Given the description of an element on the screen output the (x, y) to click on. 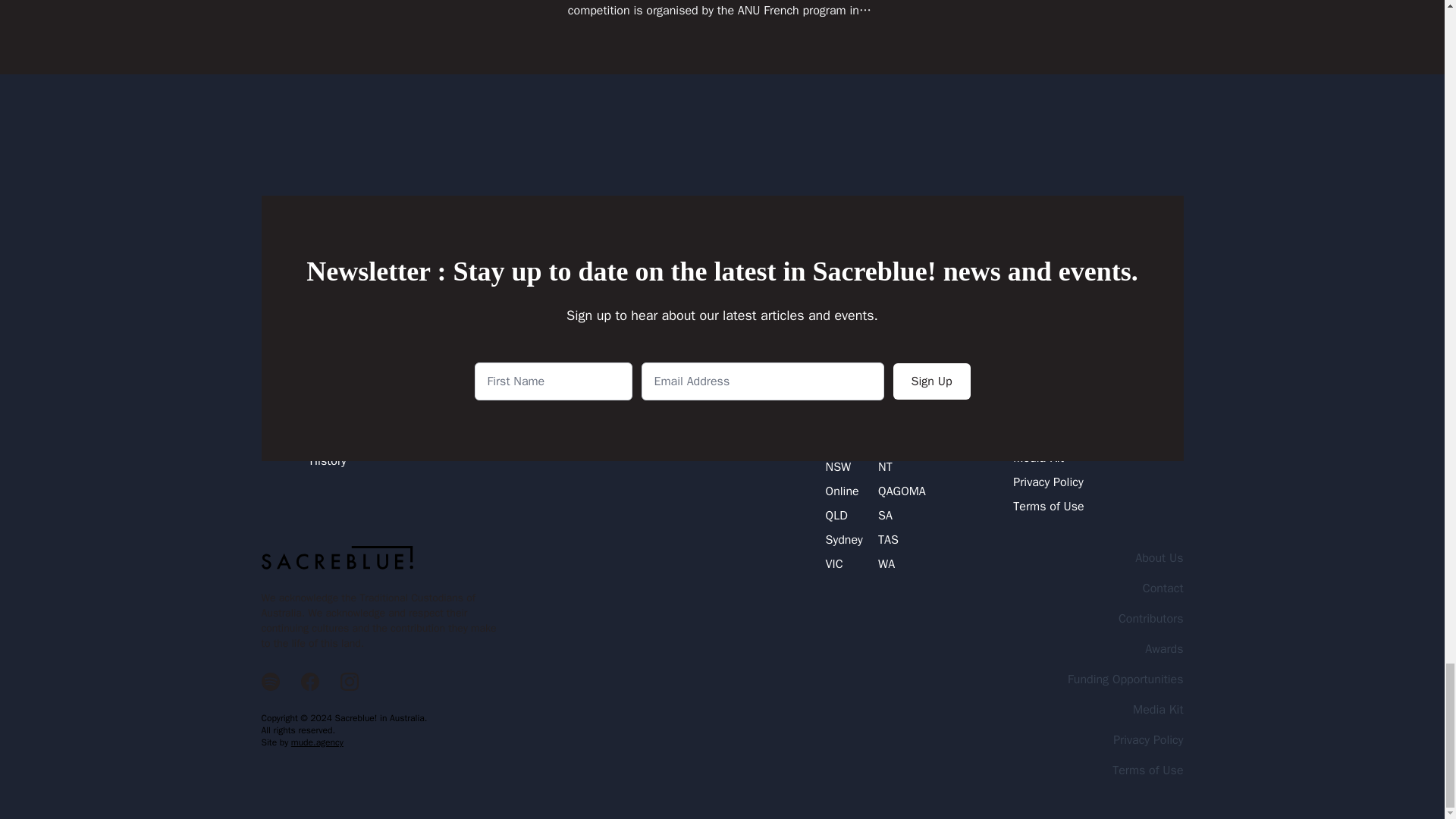
Sign Up (932, 381)
